Given the description of an element on the screen output the (x, y) to click on. 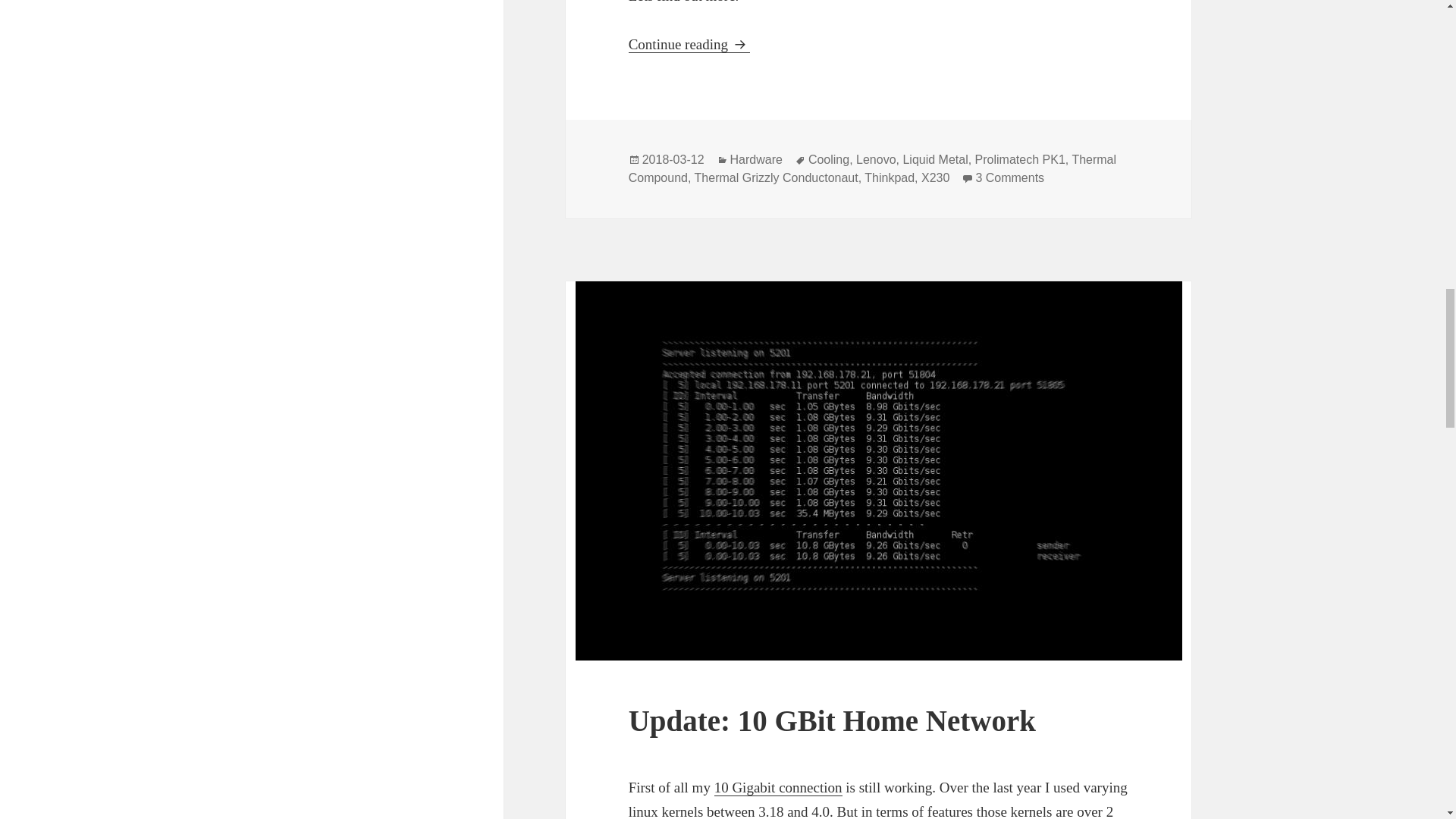
Thermal Compound (872, 169)
Hardware (756, 160)
2018-03-12 (673, 160)
Prolimatech PK1 (1020, 160)
Thermal Grizzly Conductonaut (776, 178)
Cooling (828, 160)
Liquid Metal (935, 160)
Lenovo (688, 44)
Thinkpad (876, 160)
